Given the description of an element on the screen output the (x, y) to click on. 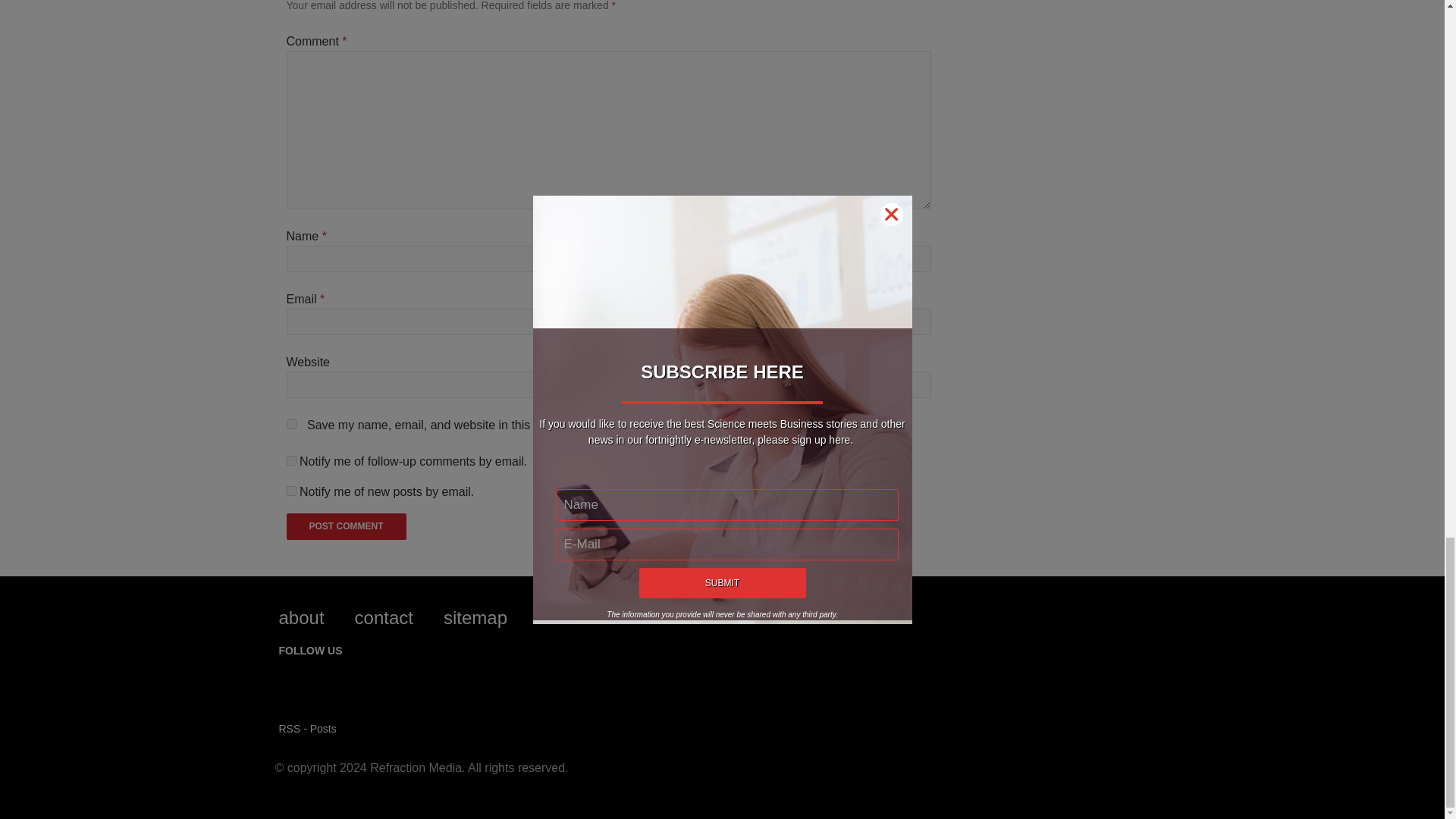
Subscribe to posts (307, 728)
yes (291, 424)
subscribe (291, 460)
Post Comment (346, 526)
subscribe (291, 491)
Post Comment (346, 526)
